Given the description of an element on the screen output the (x, y) to click on. 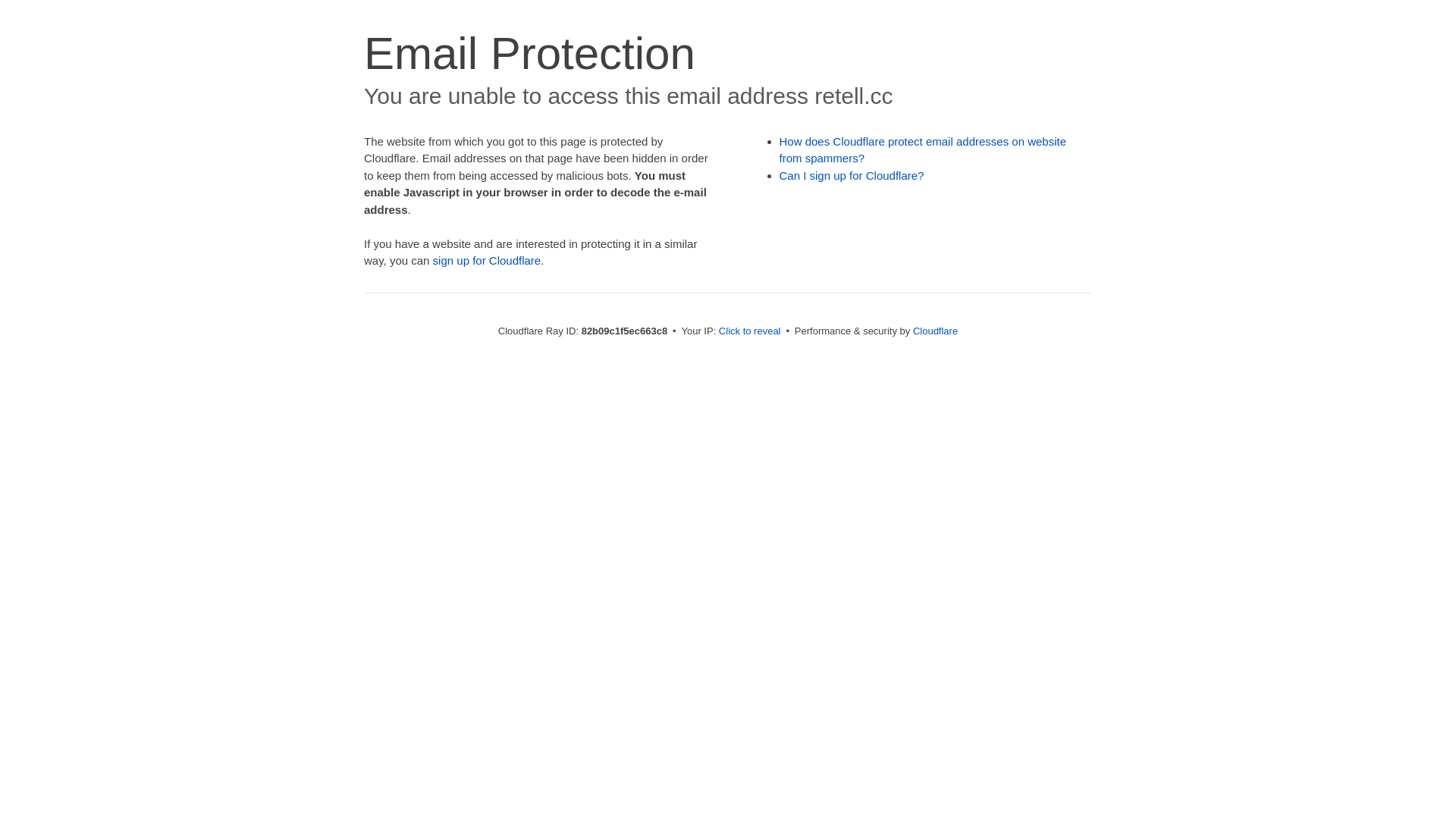
sign up for Cloudflare Element type: text (487, 260)
Click to reveal Element type: text (749, 330)
Cloudflare Element type: text (935, 330)
Can I sign up for Cloudflare? Element type: text (851, 175)
